Given the description of an element on the screen output the (x, y) to click on. 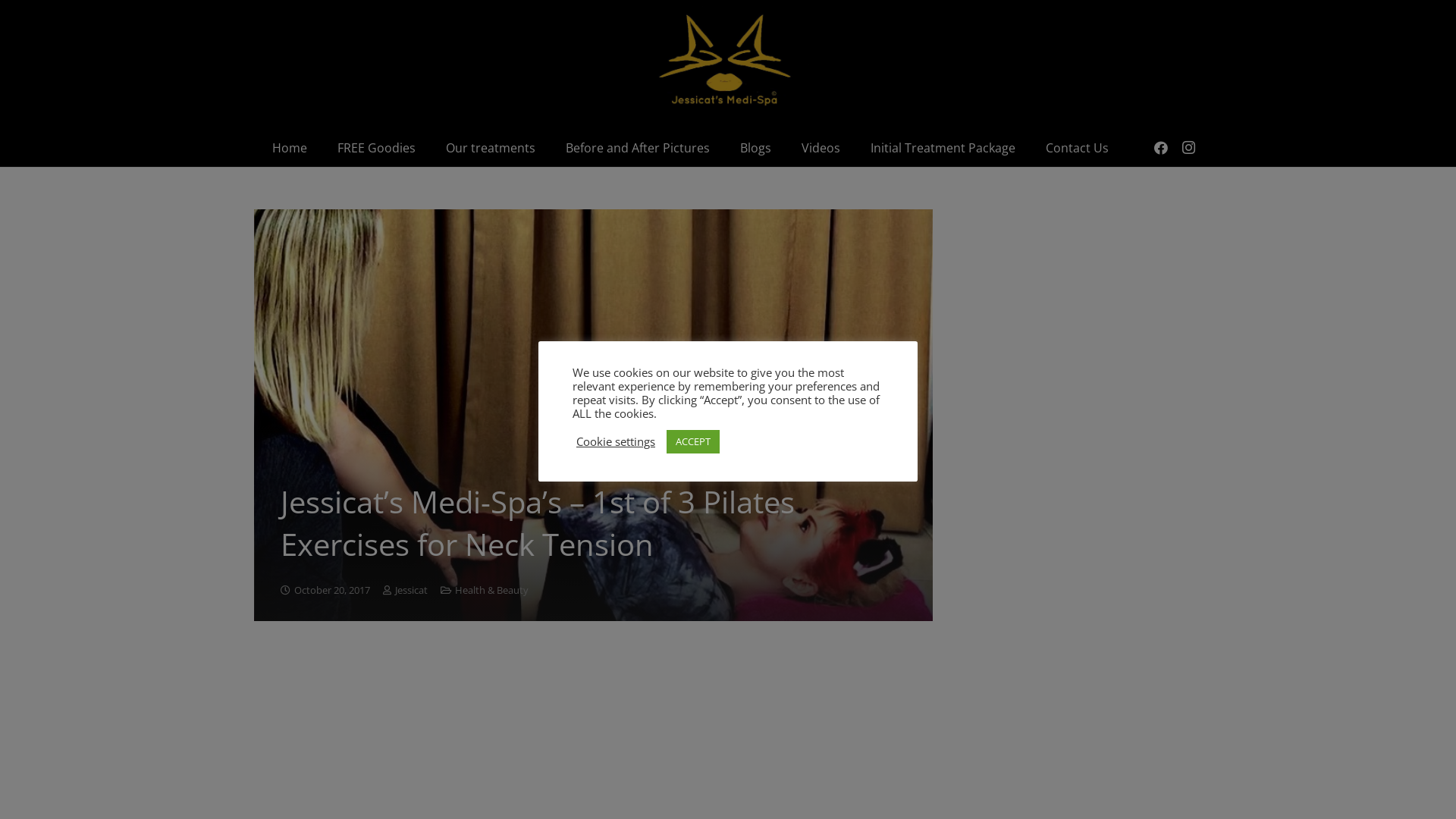
FREE Goodies Element type: text (376, 147)
Videos Element type: text (820, 147)
Before and After Pictures Element type: text (637, 147)
Our treatments Element type: text (490, 147)
Jessicat Element type: text (411, 590)
Blogs Element type: text (755, 147)
Instagram Element type: hover (1187, 147)
Facebook Element type: hover (1160, 147)
Contact Us Element type: text (1076, 147)
ACCEPT Element type: text (692, 440)
Cookie settings Element type: text (615, 441)
Home Element type: text (289, 147)
Health & Beauty Element type: text (491, 589)
Initial Treatment Package Element type: text (942, 147)
